Given the description of an element on the screen output the (x, y) to click on. 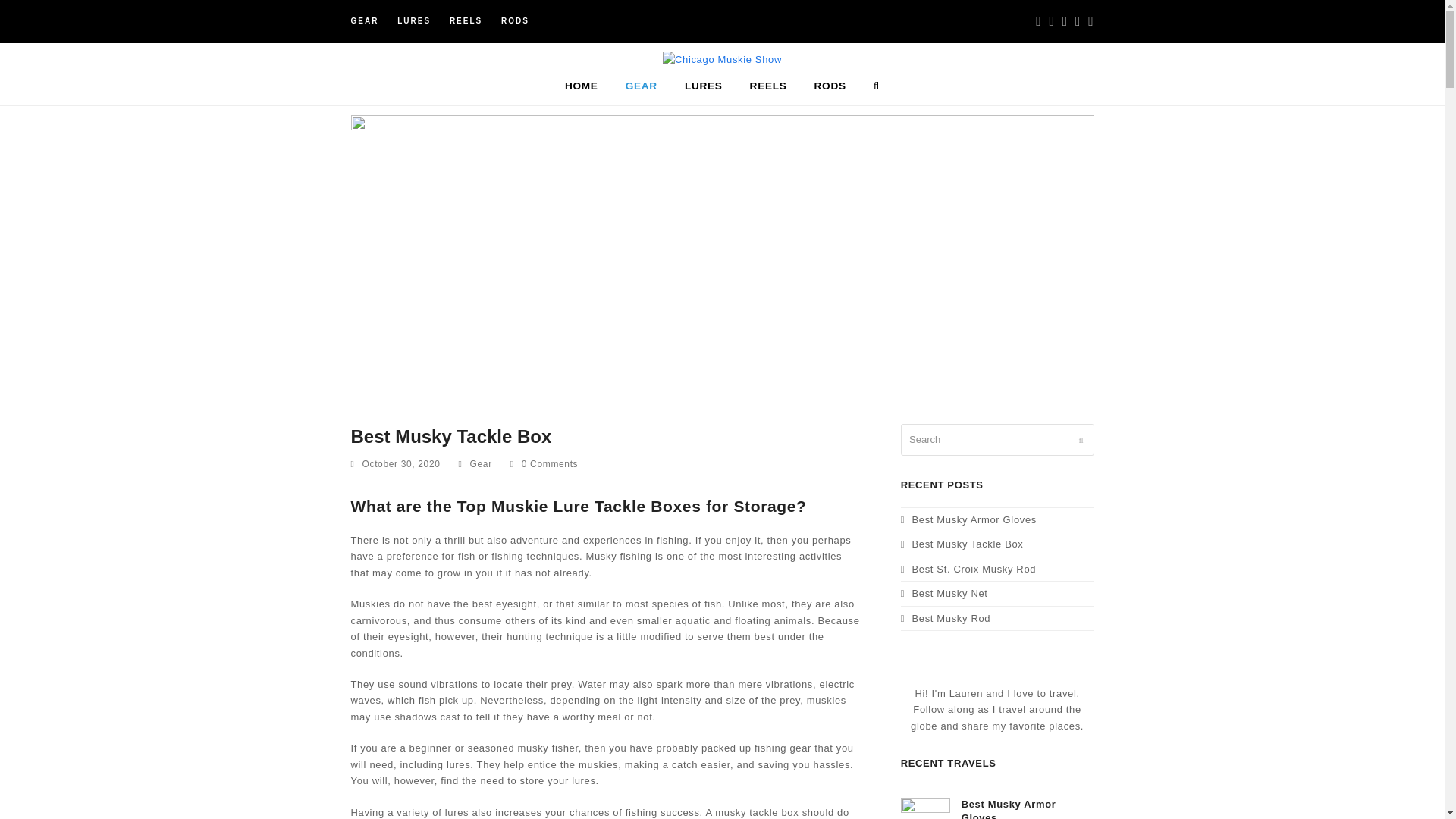
LURES (702, 86)
HOME (581, 86)
0 Comments (549, 463)
RODS (830, 86)
GEAR (364, 20)
0 Comments (544, 464)
REELS (768, 86)
RODS (514, 20)
GEAR (640, 86)
REELS (465, 20)
LURES (413, 20)
Gear (481, 463)
